Given the description of an element on the screen output the (x, y) to click on. 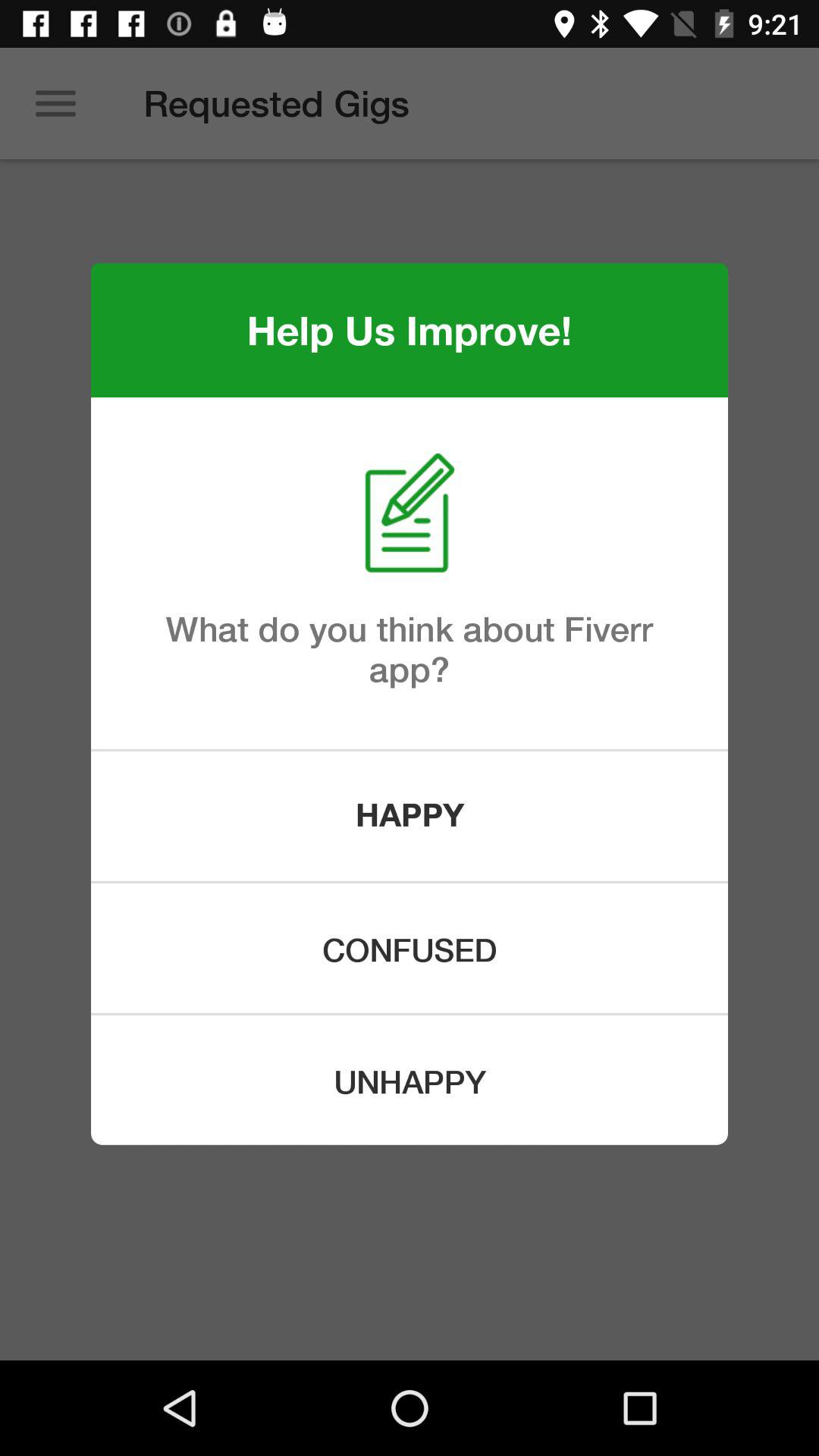
scroll until unhappy (409, 1079)
